Given the description of an element on the screen output the (x, y) to click on. 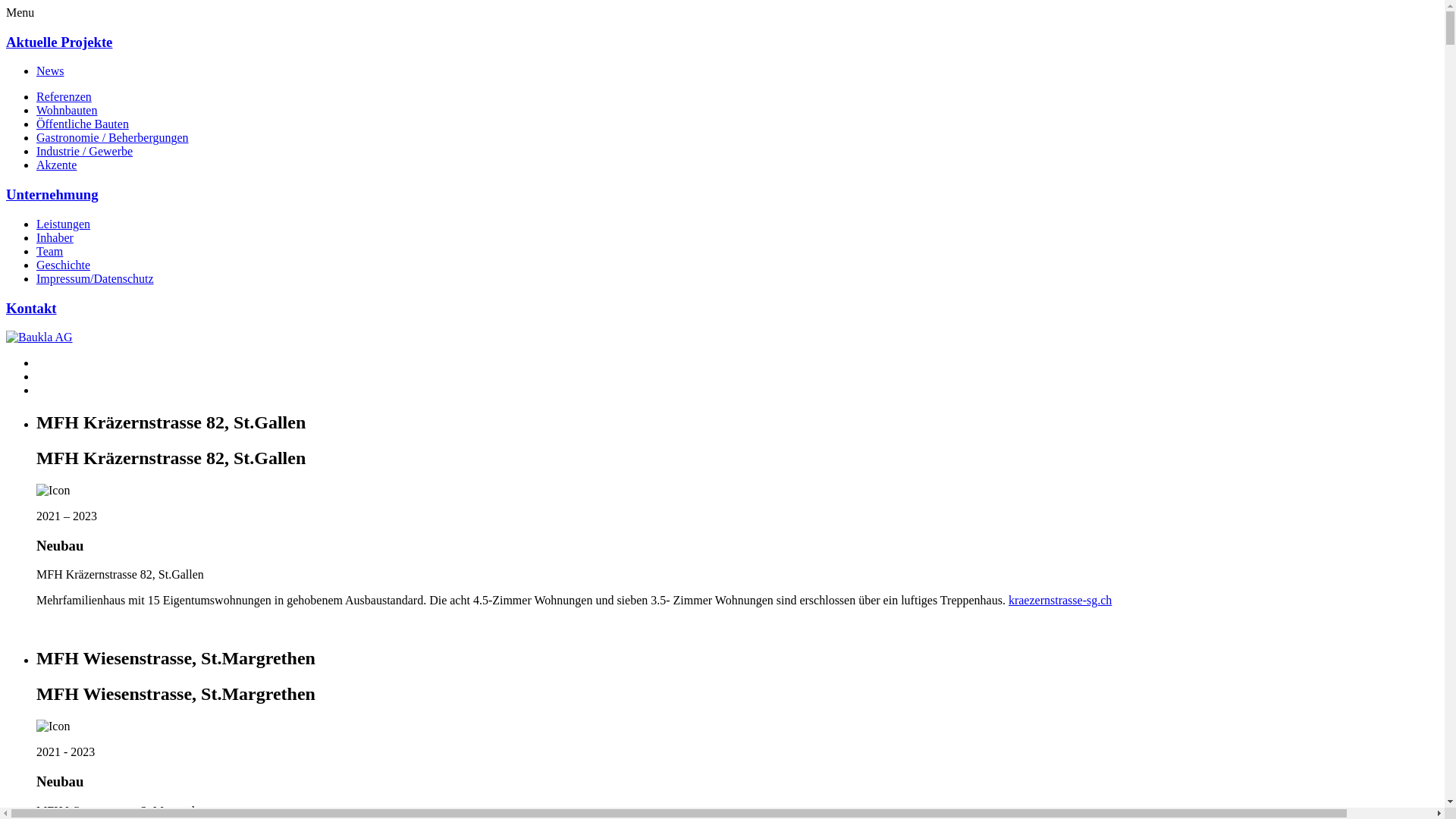
Industrie / Gewerbe Element type: text (84, 150)
Wohnbauten Element type: text (66, 109)
Leistungen Element type: text (63, 223)
Kontakt Element type: text (31, 308)
Referenzen Element type: text (63, 96)
News Element type: text (49, 70)
Gastronomie / Beherbergungen Element type: text (112, 137)
Inhaber Element type: text (54, 237)
Geschichte Element type: text (63, 264)
Team Element type: text (49, 250)
Unternehmung Element type: text (52, 194)
Akzente Element type: text (56, 164)
Impressum/Datenschutz Element type: text (94, 278)
Aktuelle Projekte Element type: text (59, 42)
kraezernstrasse-sg.ch Element type: text (1059, 599)
